Given the description of an element on the screen output the (x, y) to click on. 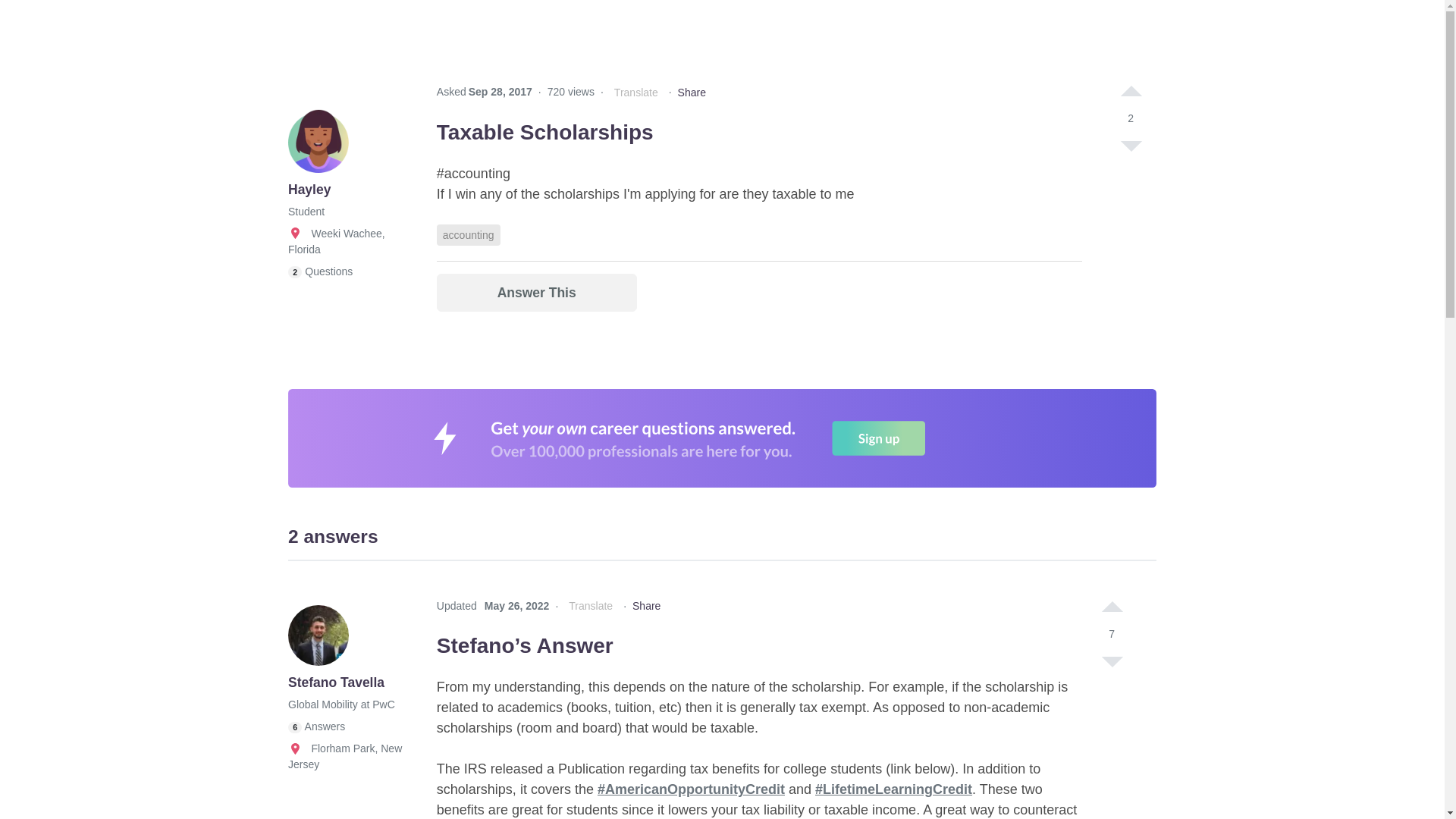
Translate (636, 92)
Answer This (536, 292)
accounting (468, 234)
Share (692, 92)
